Given the description of an element on the screen output the (x, y) to click on. 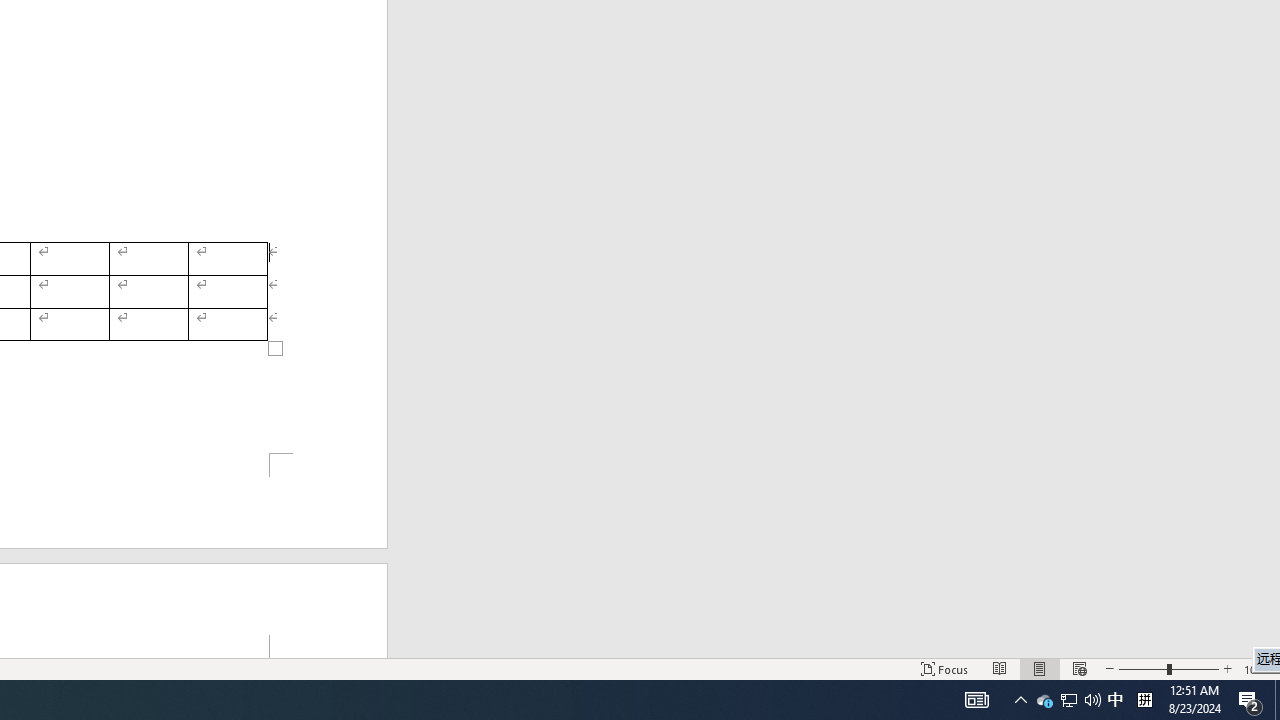
Zoom 100% (1258, 668)
Zoom (1168, 668)
